Given the description of an element on the screen output the (x, y) to click on. 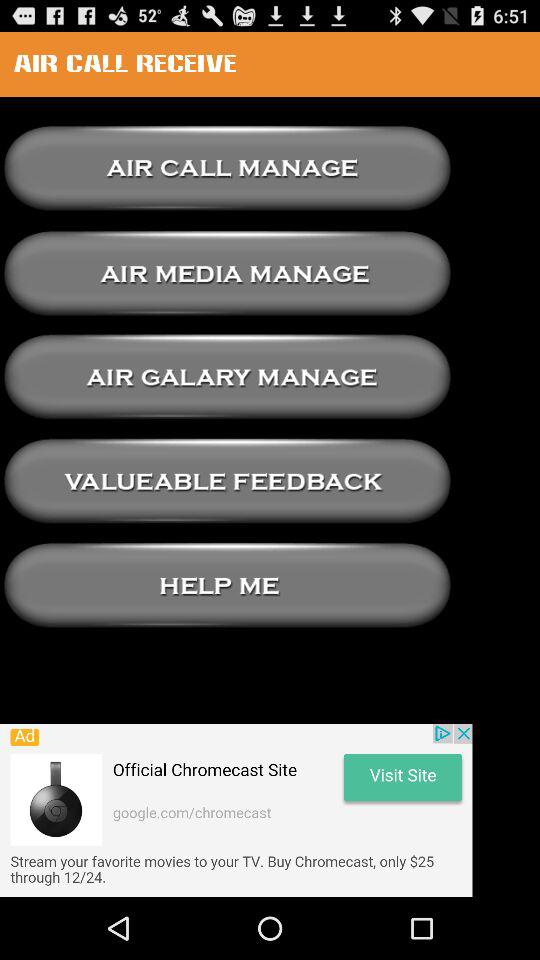
toggle a select option (227, 377)
